Given the description of an element on the screen output the (x, y) to click on. 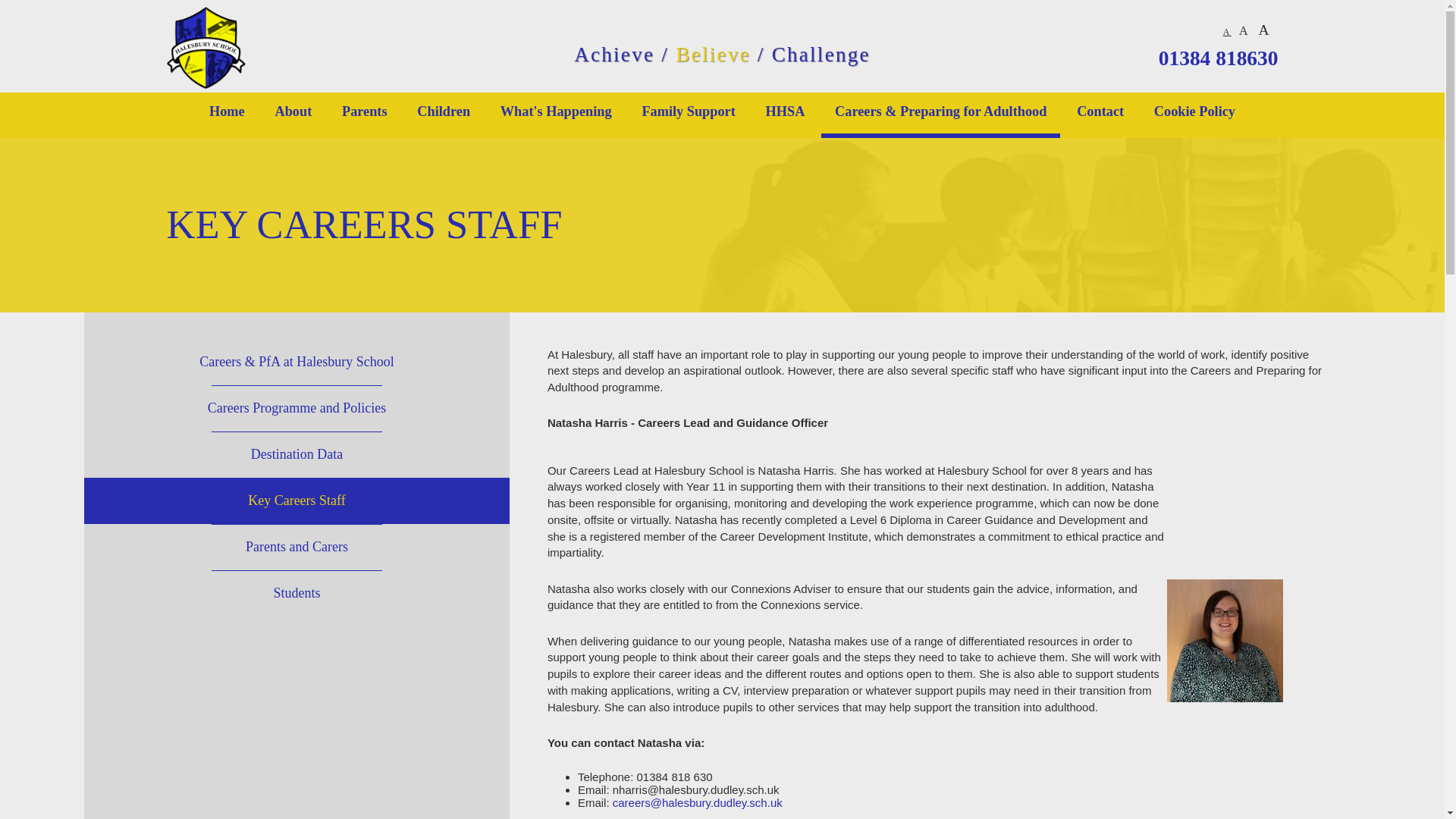
01384 818630 (1215, 57)
Home (227, 121)
